Given the description of an element on the screen output the (x, y) to click on. 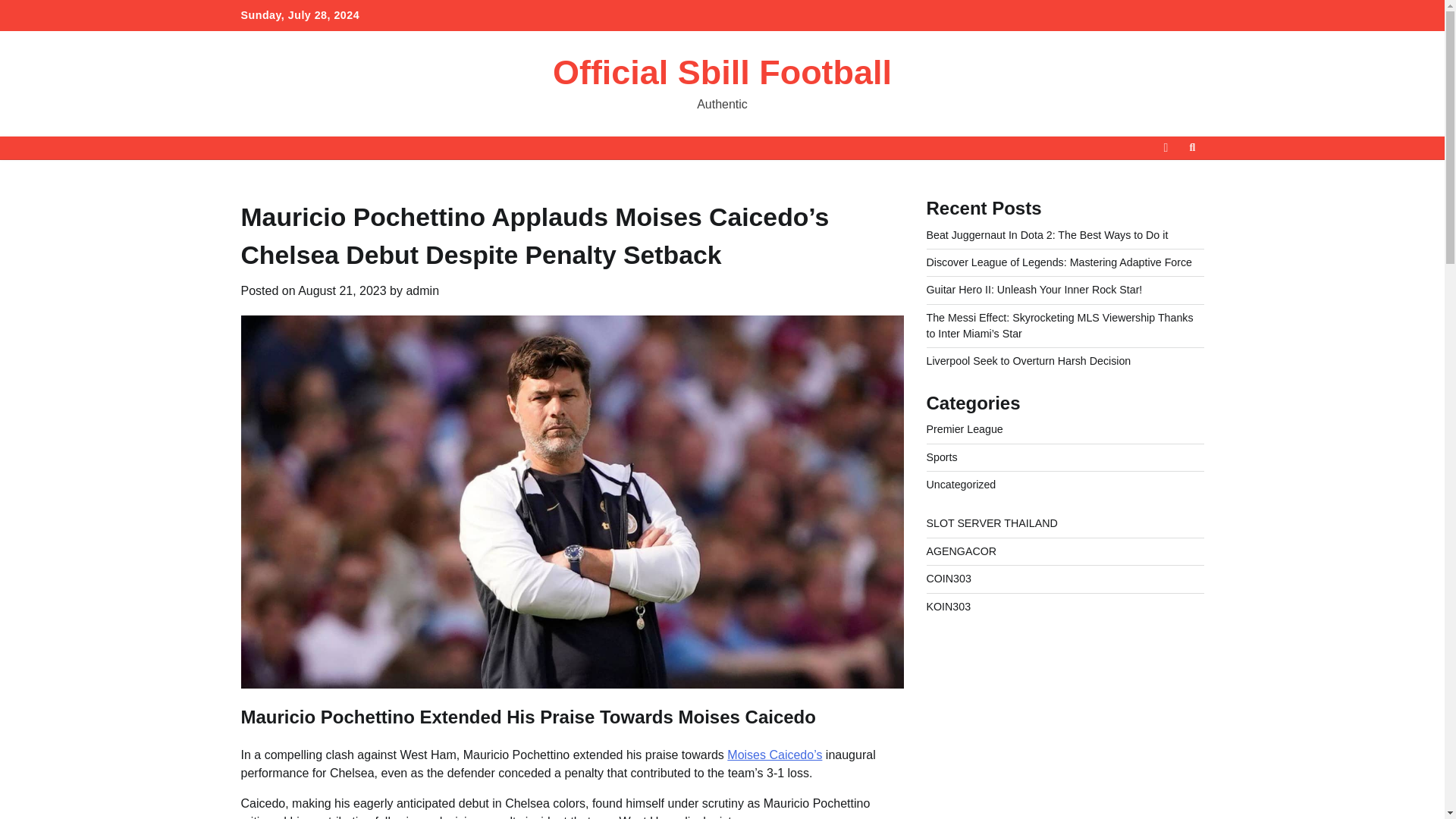
COIN303 (948, 578)
Discover League of Legends: Mastering Adaptive Force (1059, 262)
Search (1192, 147)
KOIN303 (948, 606)
Beat Juggernaut In Dota 2: The Best Ways to Do it (1047, 234)
Official Sbill Football (722, 72)
Guitar Hero II: Unleash Your Inner Rock Star! (1034, 289)
admin (422, 290)
AGENGACOR (961, 551)
Sports (942, 457)
SLOT SERVER THAILAND (992, 522)
Search (1164, 183)
Uncategorized (960, 484)
August 21, 2023 (342, 290)
Liverpool Seek to Overturn Harsh Decision (1028, 360)
